Given the description of an element on the screen output the (x, y) to click on. 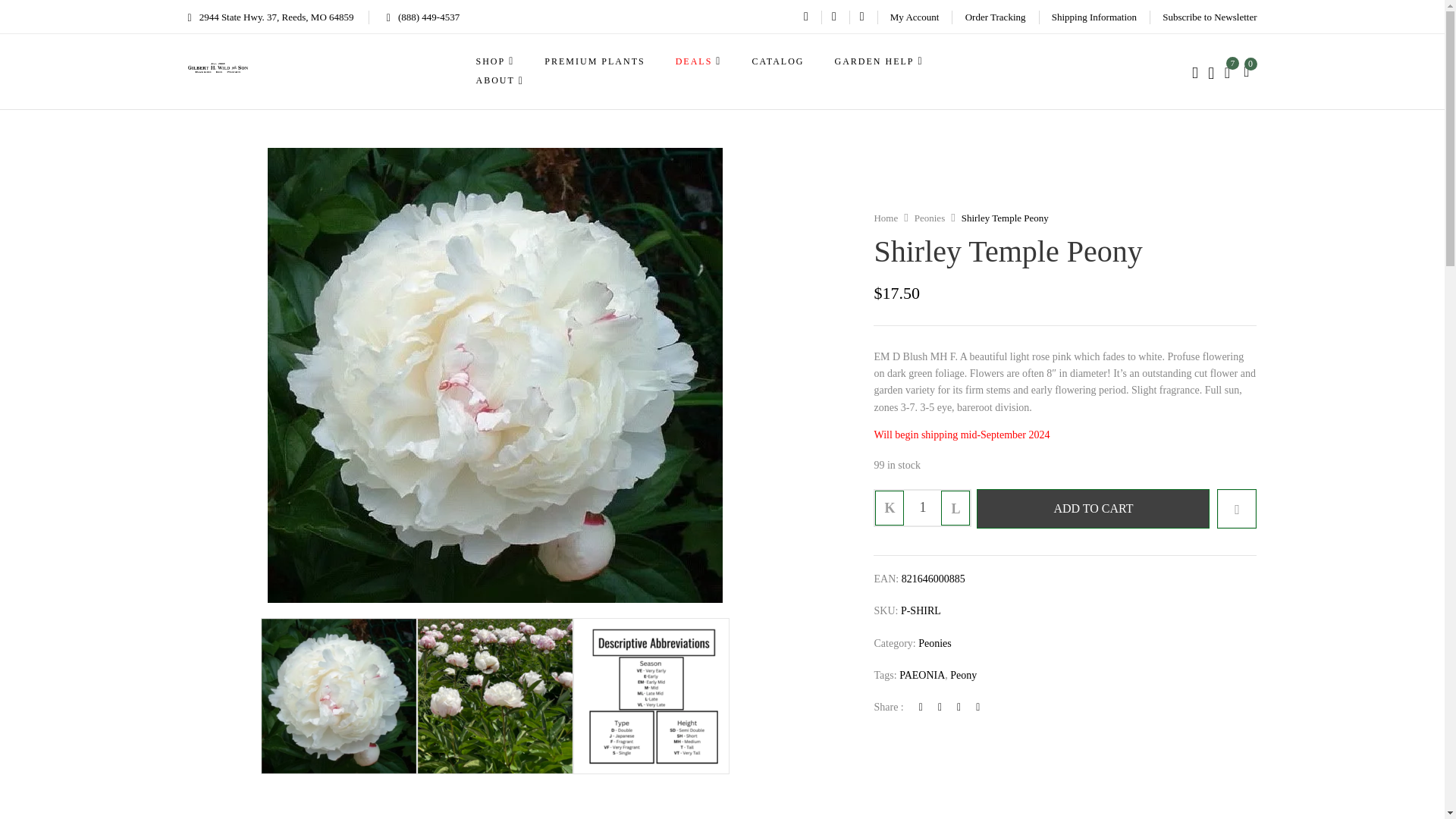
2944 State Hwy. 37, Reeds, MO 64859 (270, 16)
1 (922, 507)
Shipping Information (1094, 16)
Order Tracking (995, 16)
SHOP (495, 61)
Subscribe to Newsletter (1208, 16)
My Account (914, 16)
